Given the description of an element on the screen output the (x, y) to click on. 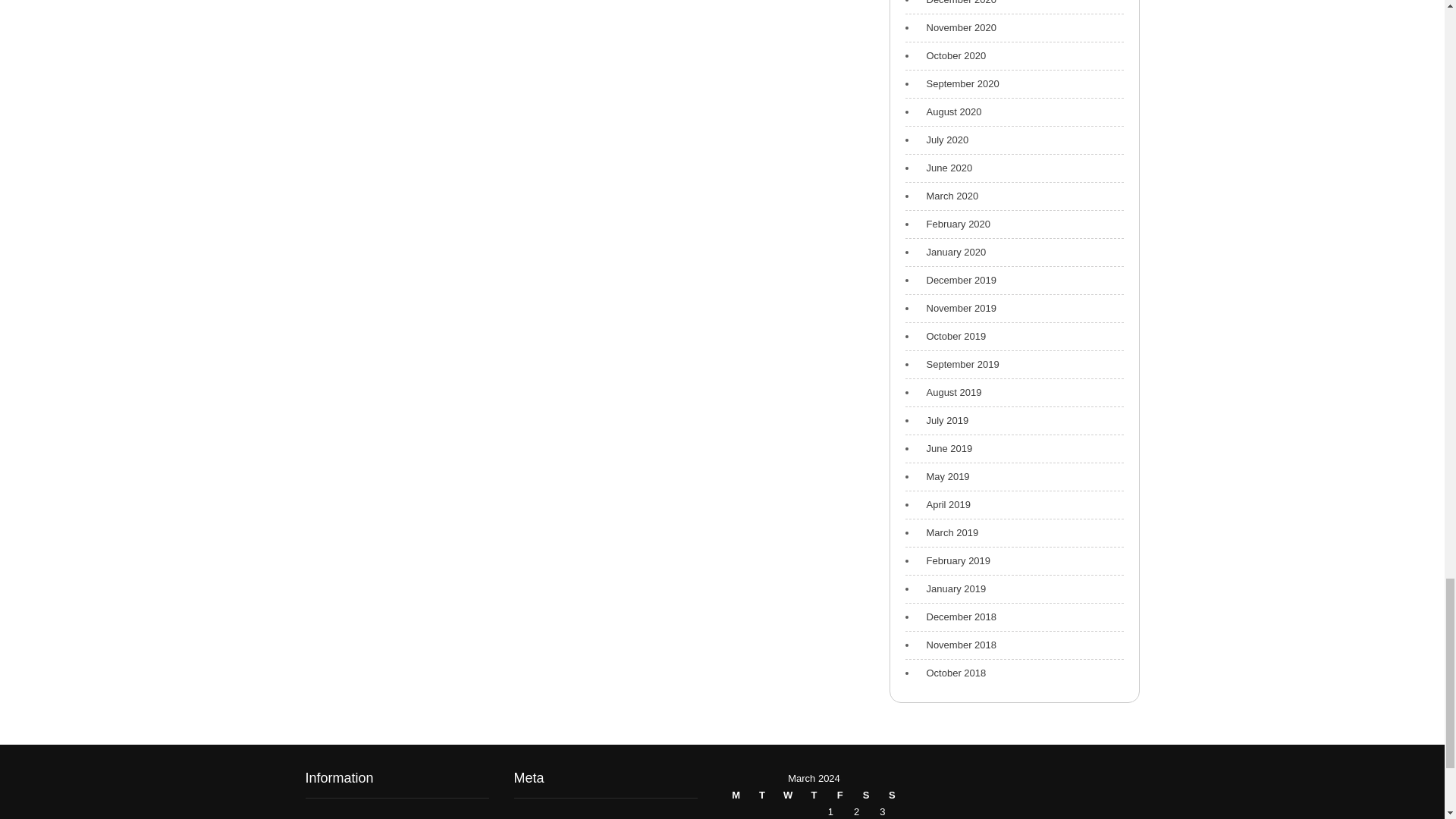
Wednesday (787, 795)
Monday (735, 795)
Sunday (891, 795)
Saturday (865, 795)
Thursday (813, 795)
Friday (839, 795)
Tuesday (761, 795)
